Given the description of an element on the screen output the (x, y) to click on. 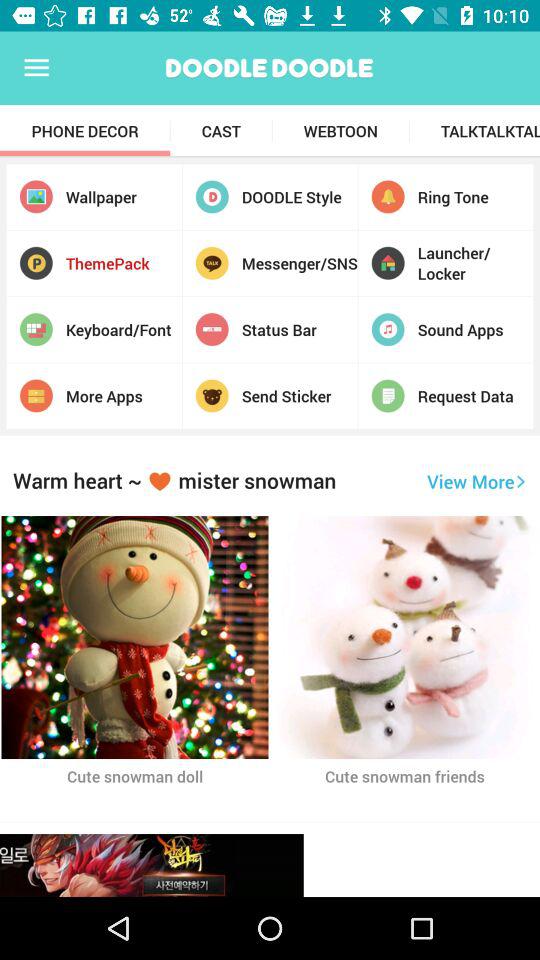
select icon next to the cast app (340, 131)
